Given the description of an element on the screen output the (x, y) to click on. 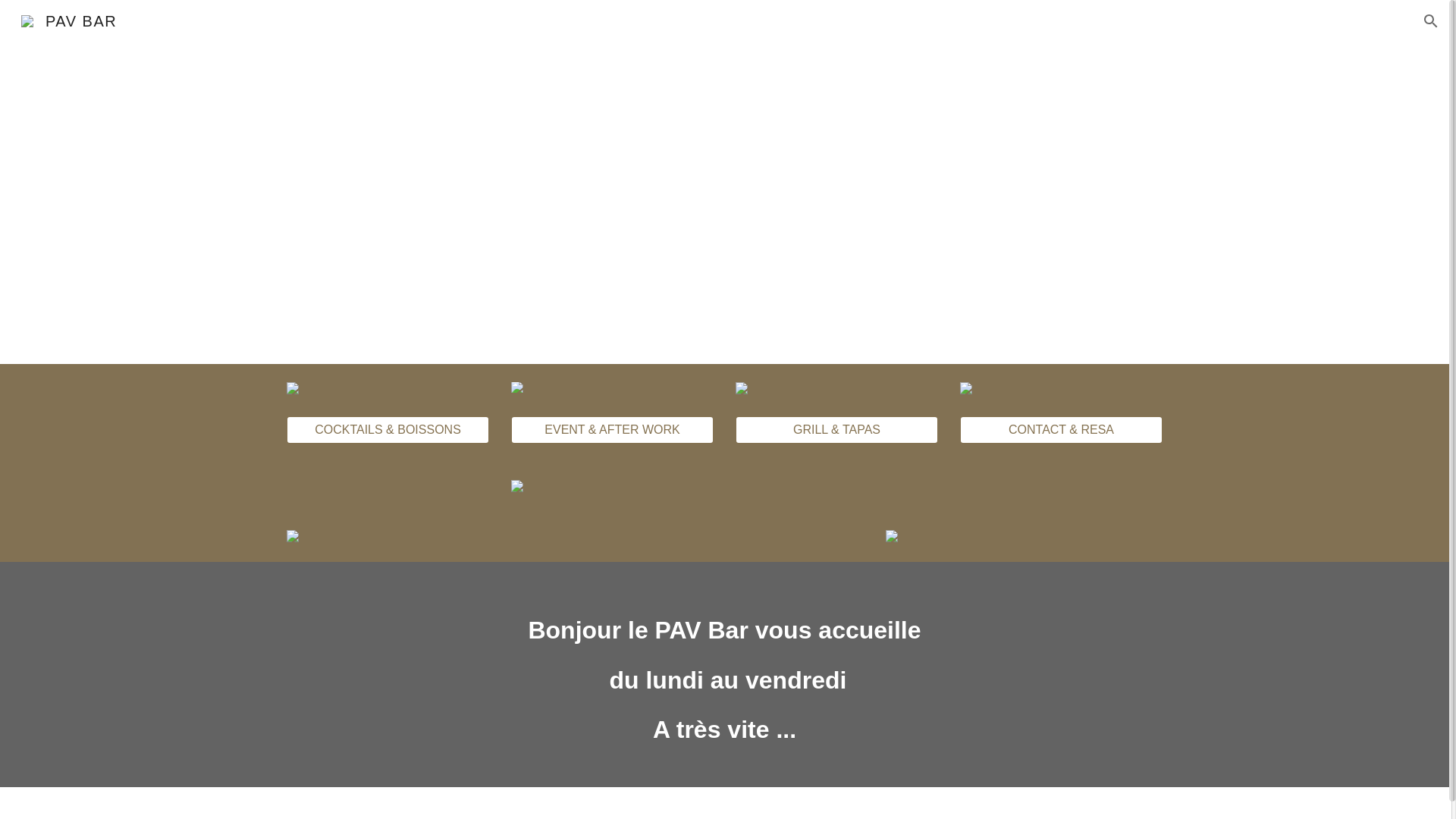
EVENT & AFTER WORK Element type: text (611, 429)
COCKTAILS & BOISSONS Element type: text (387, 429)
GRILL & TAPAS Element type: text (836, 429)
CONTACT & RESA Element type: text (1060, 429)
PAV BAR Element type: text (68, 19)
